Given the description of an element on the screen output the (x, y) to click on. 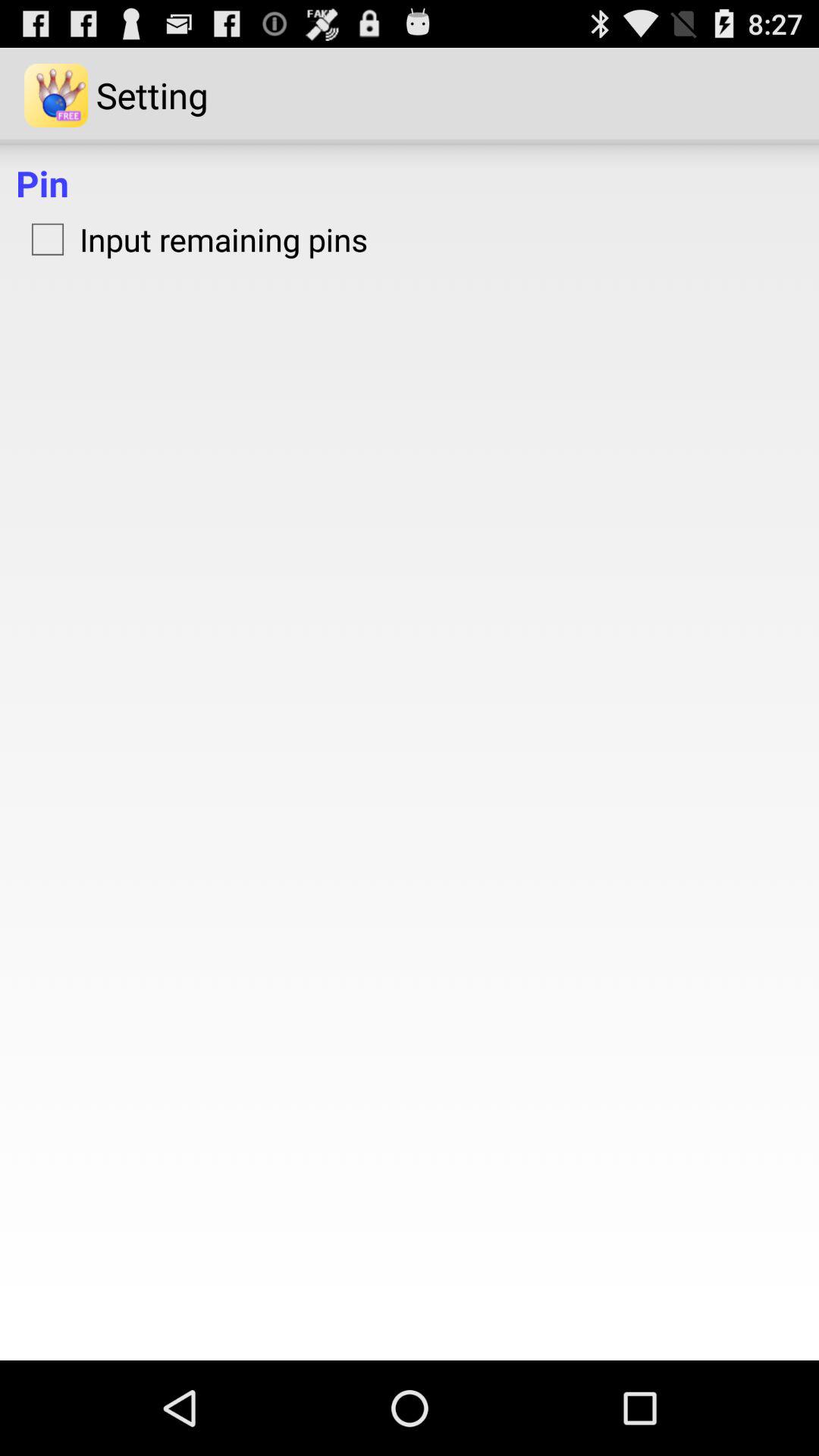
tap input remaining pins icon (191, 239)
